Given the description of an element on the screen output the (x, y) to click on. 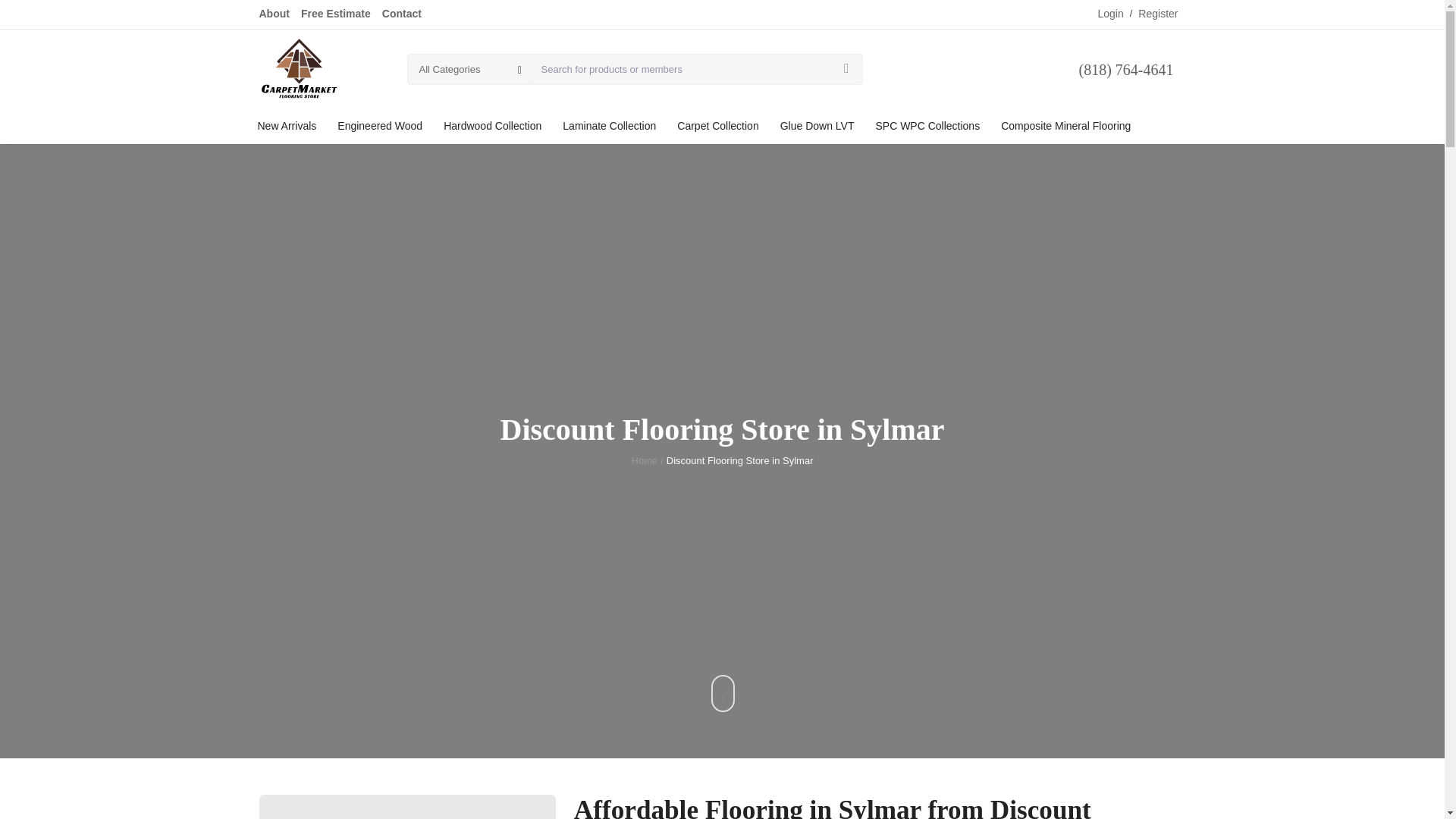
Register (1157, 13)
Contact (401, 13)
About (274, 13)
Engineered Wood (379, 125)
Laminate Collection (608, 125)
Free Estimate (336, 13)
Hardwood Collection (491, 125)
Login (1109, 13)
New Arrivals (287, 125)
All Categories (468, 69)
